Given the description of an element on the screen output the (x, y) to click on. 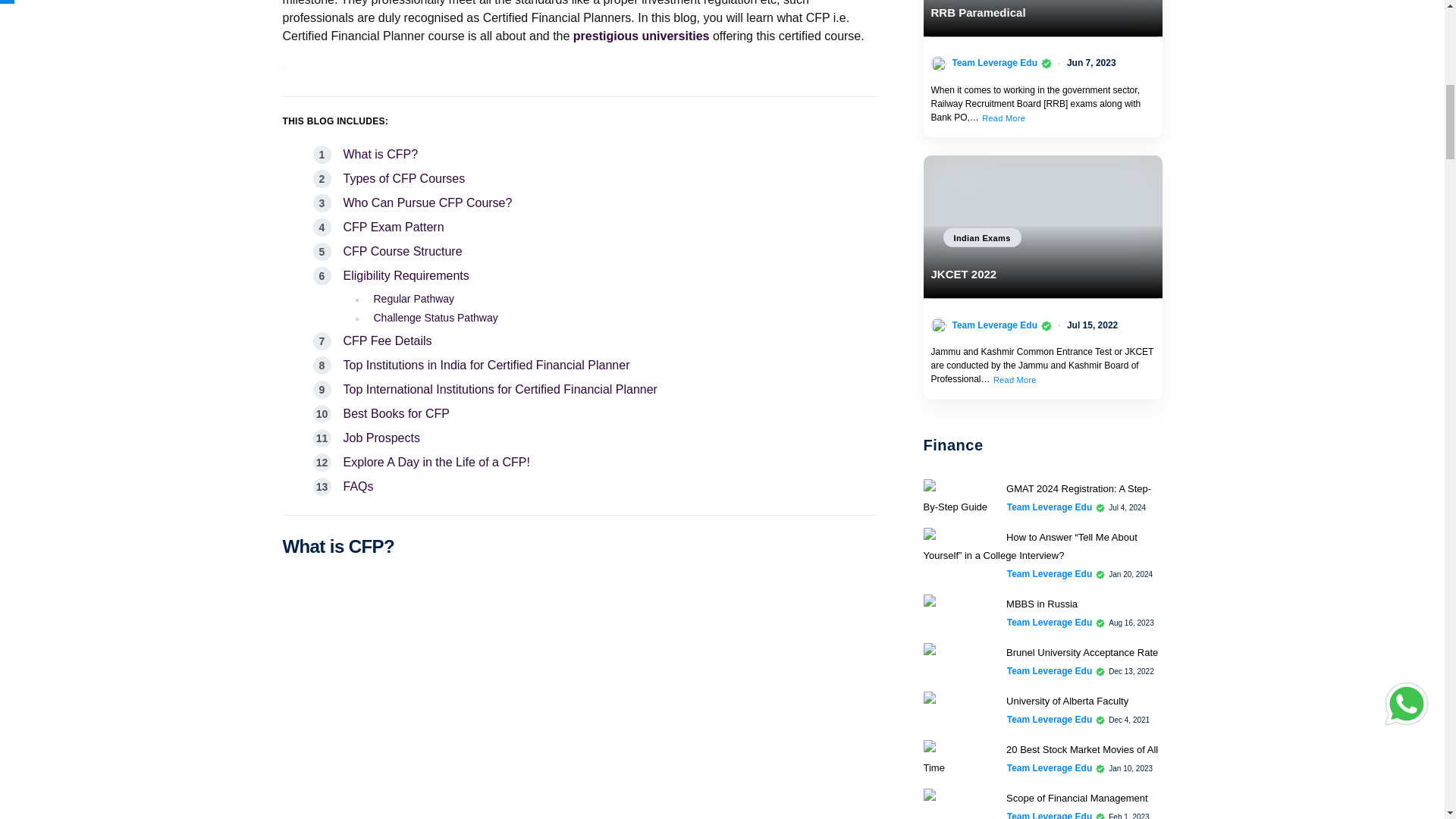
View all posts by Team Leverage Edu (1050, 719)
View all posts by Team Leverage Edu (995, 62)
View all posts by Team Leverage Edu (1050, 767)
View all posts by Team Leverage Edu (1050, 507)
View all posts by Team Leverage Edu (1050, 573)
View all posts by Team Leverage Edu (1050, 814)
View all posts by Team Leverage Edu (995, 325)
View all posts by Team Leverage Edu (1050, 622)
View all posts by Team Leverage Edu (1050, 671)
